Given the description of an element on the screen output the (x, y) to click on. 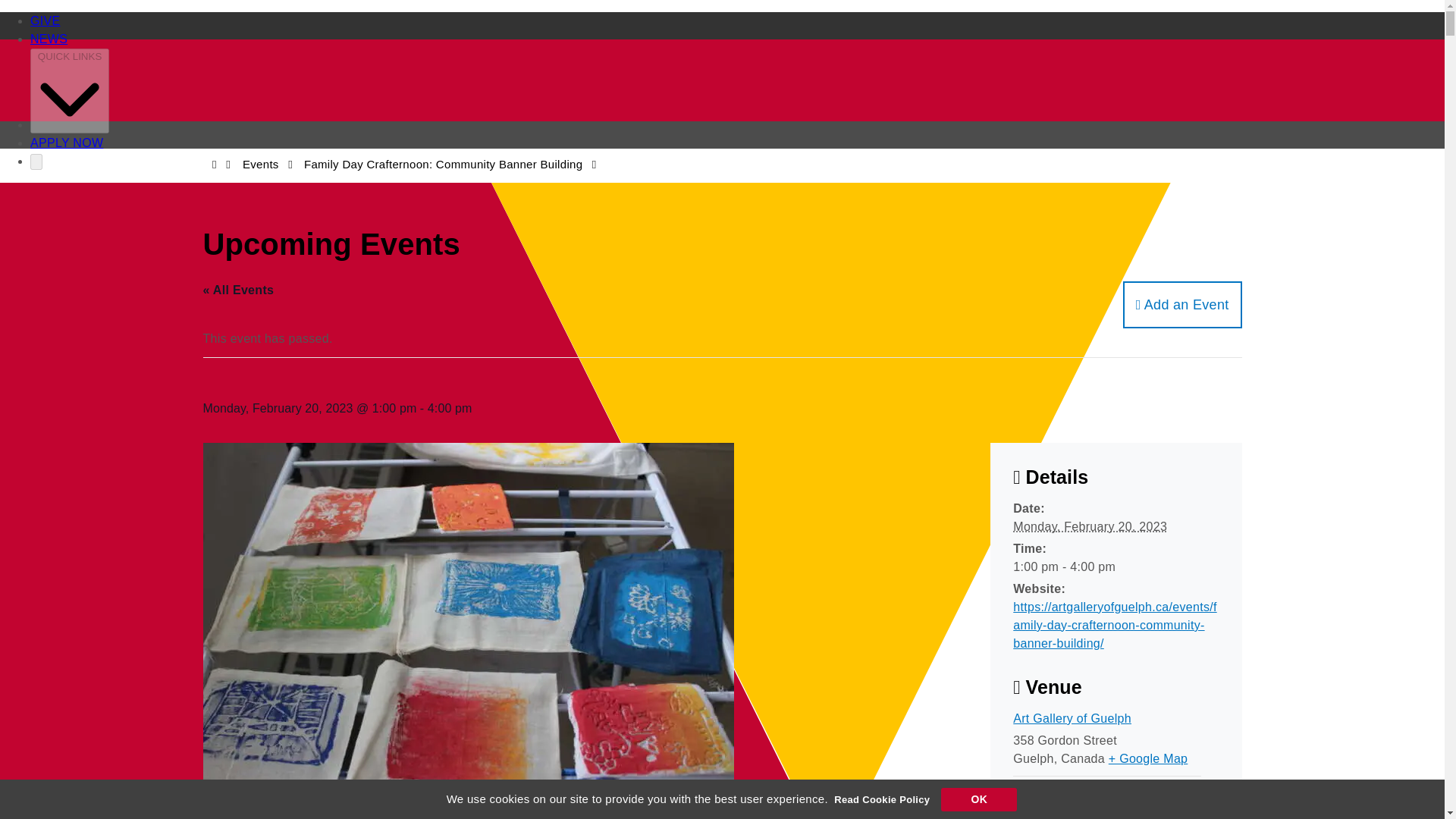
Events (261, 164)
Art Gallery of Guelph (1072, 717)
Add an Event (1181, 304)
